Given the description of an element on the screen output the (x, y) to click on. 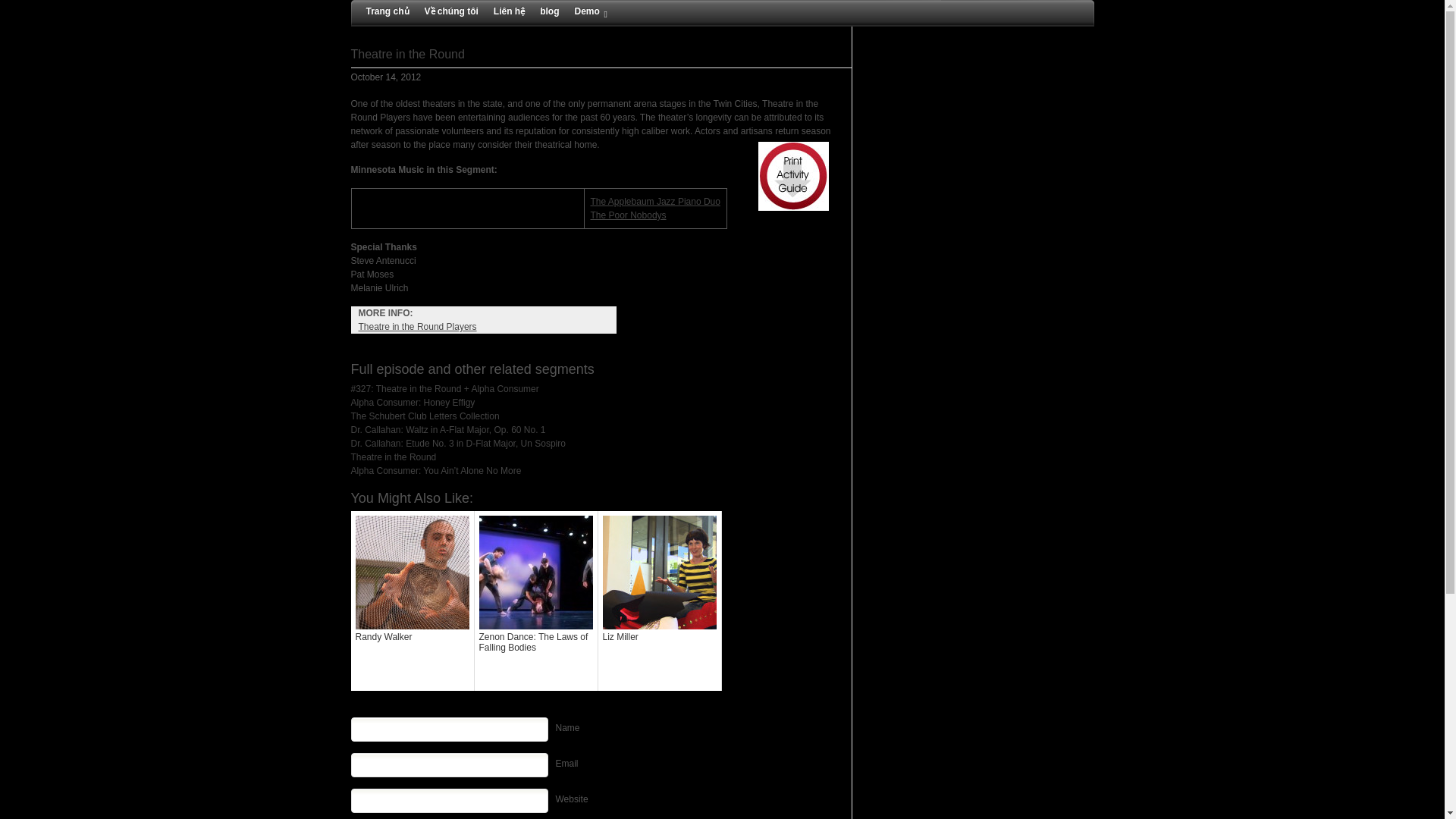
Randy Walker (412, 601)
blog (549, 11)
The Applebaum Jazz Piano Duo (654, 201)
The Poor Nobodys (627, 214)
Theatre in the Round (407, 53)
The Schubert Club Letters Collection (424, 416)
Liz Miller (658, 601)
Alpha Consumer: Honey Effigy (412, 402)
Theatre in the Round (392, 457)
activity-guide (792, 176)
Demo (587, 11)
Theatre in the Round Players (417, 326)
Dr. Callahan: Etude No. 3 in D-Flat Major, Un Sospiro (457, 443)
Theatre in the Round (407, 53)
Zenon Dance: The Laws of Falling Bodies (536, 601)
